Given the description of an element on the screen output the (x, y) to click on. 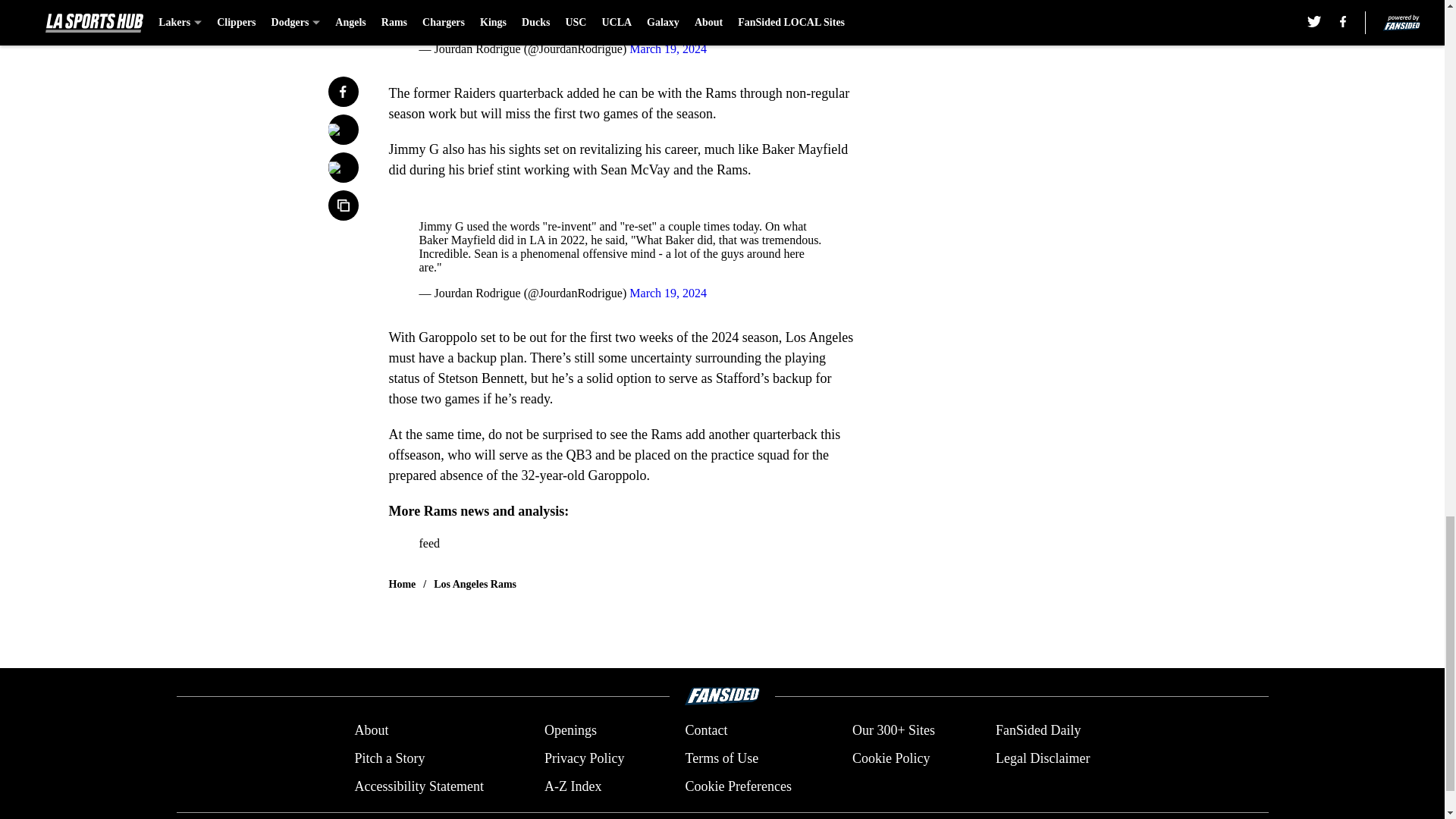
FanSided Daily (1038, 730)
Home (401, 584)
Privacy Policy (584, 758)
About (370, 730)
March 19, 2024 (667, 48)
Contact (705, 730)
Cookie Policy (890, 758)
Openings (570, 730)
March 19, 2024 (667, 292)
Terms of Use (721, 758)
